Given the description of an element on the screen output the (x, y) to click on. 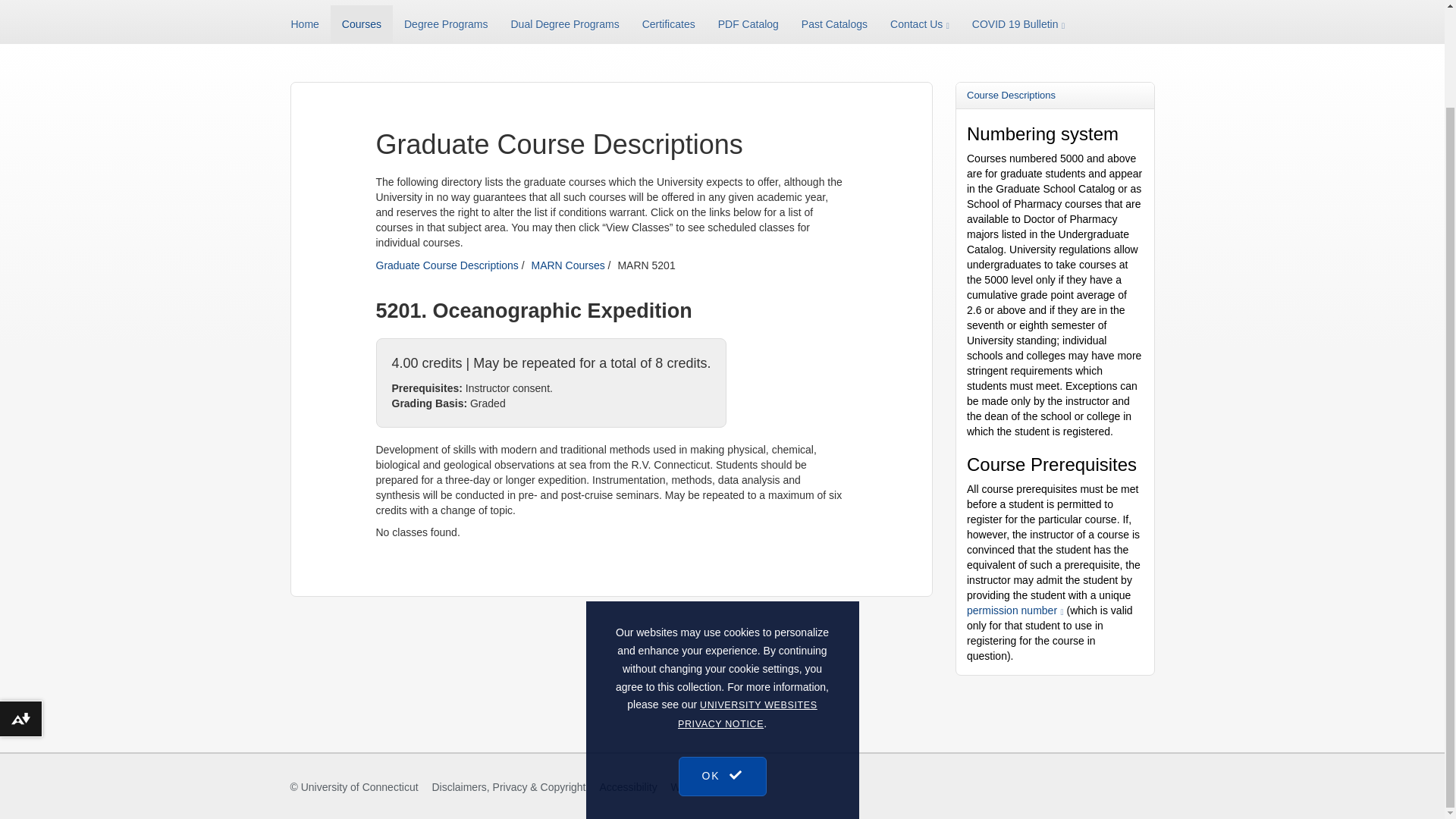
Contact Us (919, 23)
Download alternative formats ... (21, 606)
Past Catalogs (834, 23)
Home (310, 23)
Dual Degree Programs (564, 23)
permission number (1015, 610)
COVID 19 Bulletin (1017, 23)
University of Connecticut (360, 786)
Graduate Course Descriptions (446, 265)
